Given the description of an element on the screen output the (x, y) to click on. 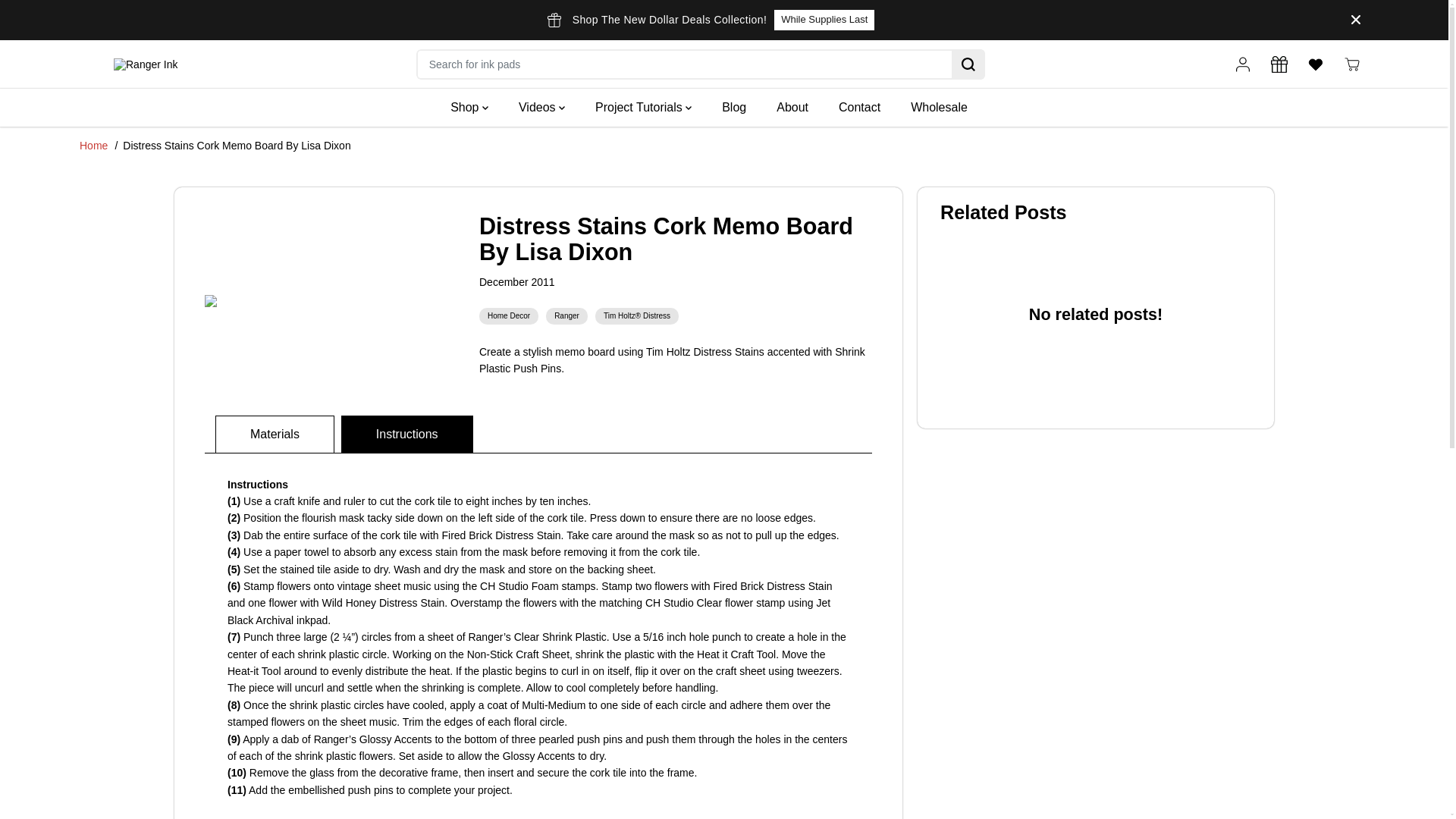
Home (93, 144)
SKIP TO CONTENT (60, 18)
Log in (1242, 64)
Cart (1351, 64)
